Given the description of an element on the screen output the (x, y) to click on. 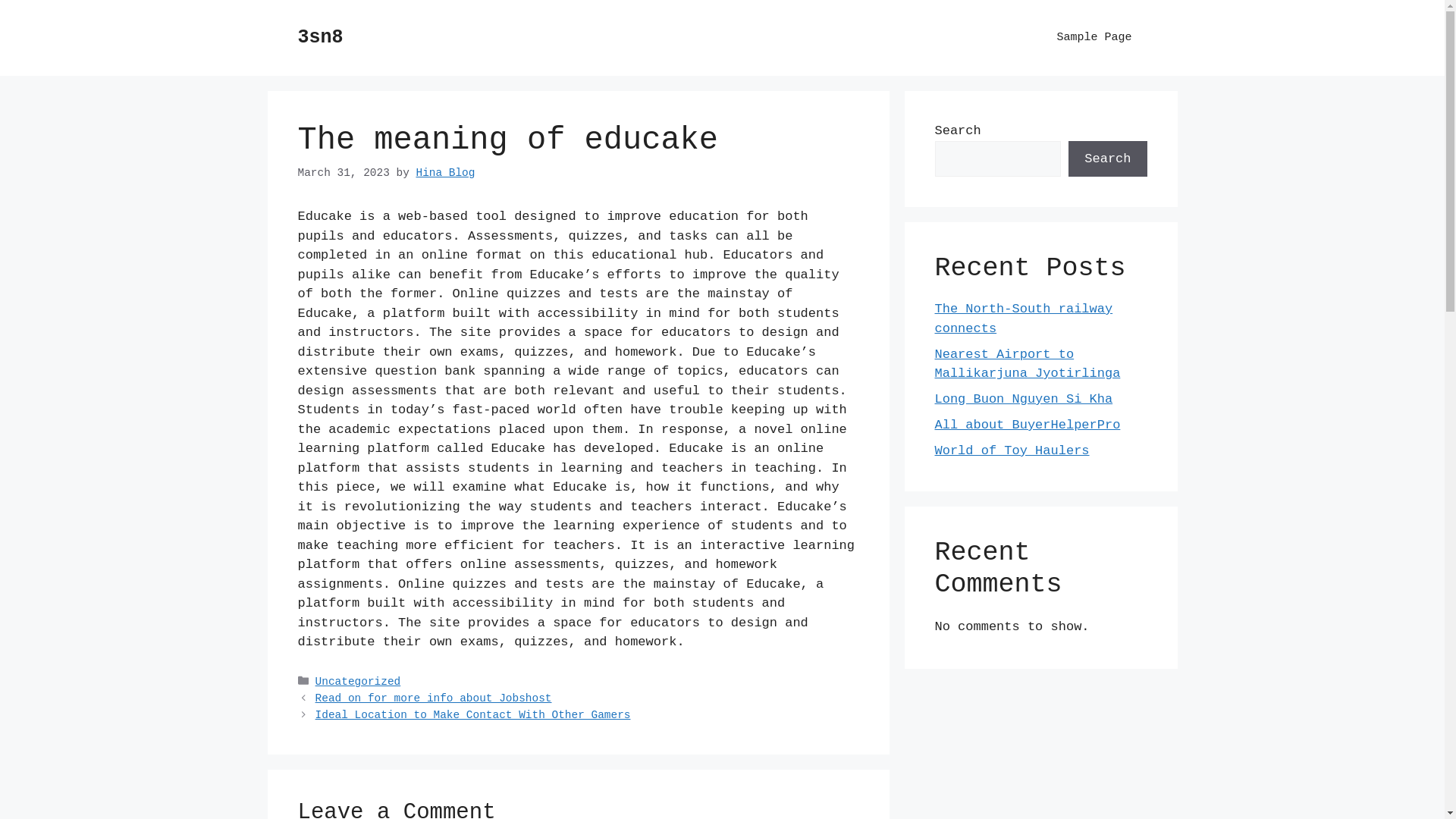
Long Buon Nguyen Si Kha Element type: text (1023, 399)
Hina Blog Element type: text (444, 172)
World of Toy Haulers Element type: text (1011, 450)
Ideal Location to Make Contact With Other Gamers Element type: text (472, 715)
3sn8 Element type: text (319, 37)
Read on for more info about Jobshost Element type: text (433, 698)
All about BuyerHelperPro Element type: text (1027, 424)
Sample Page Element type: text (1093, 37)
Uncategorized Element type: text (358, 681)
Search Element type: text (1107, 159)
The North-South railway connects Element type: text (1023, 318)
Nearest Airport to Mallikarjuna Jyotirlinga Element type: text (1027, 364)
